Given the description of an element on the screen output the (x, y) to click on. 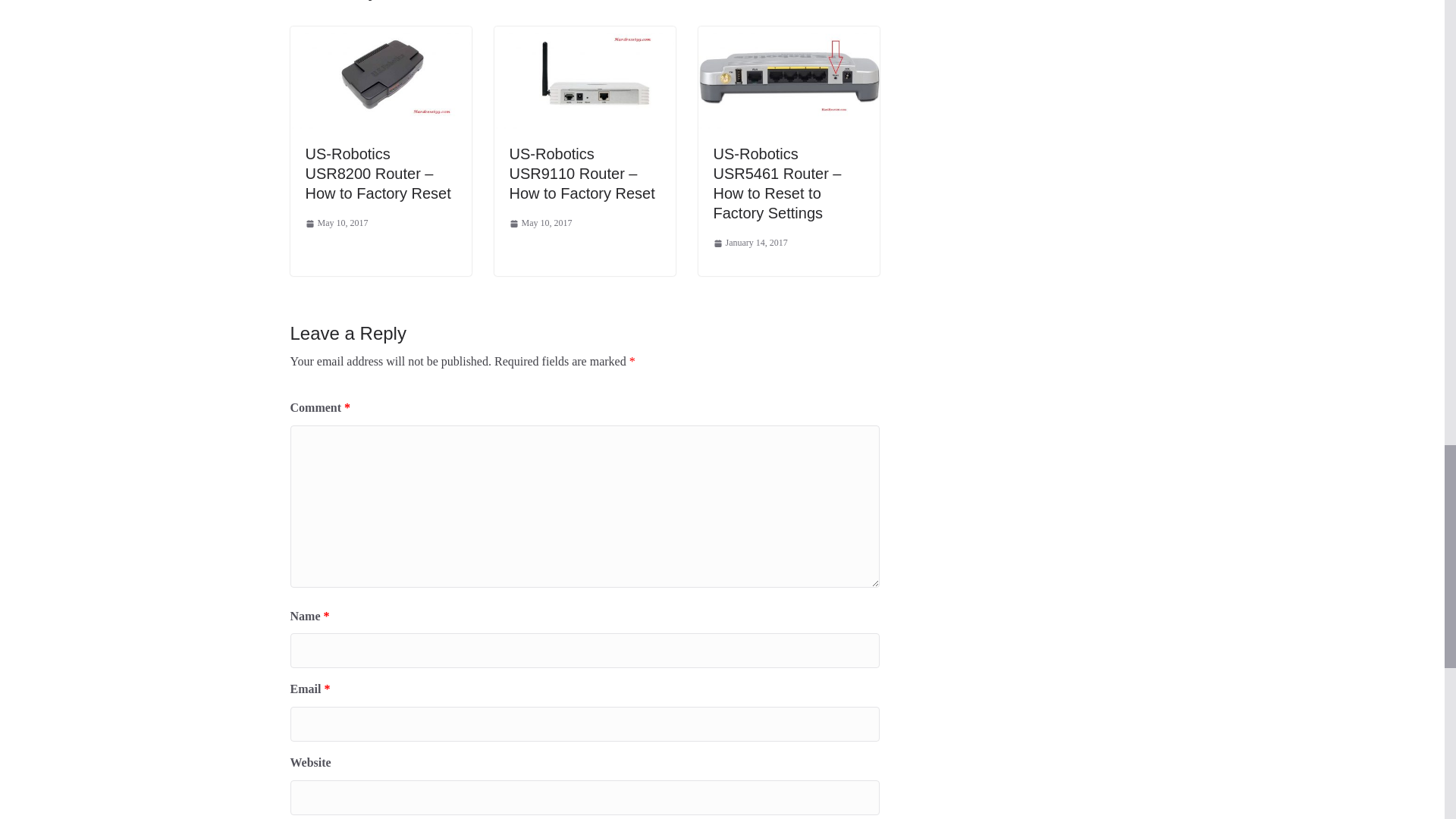
7:07 am (750, 243)
May 10, 2017 (336, 223)
12:48 pm (540, 223)
May 10, 2017 (540, 223)
January 14, 2017 (750, 243)
12:46 pm (336, 223)
